Given the description of an element on the screen output the (x, y) to click on. 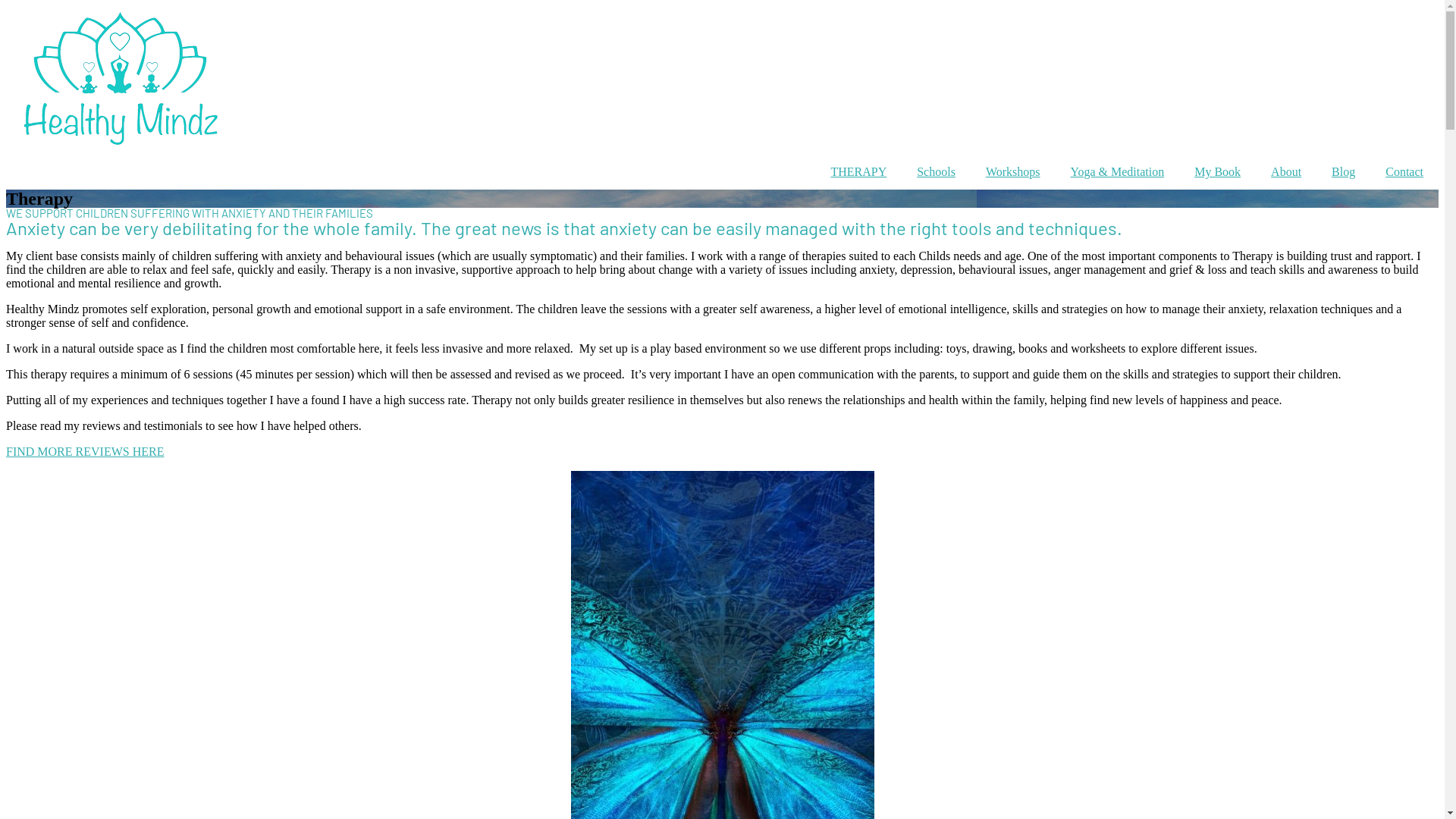
Blog Element type: text (1343, 171)
Schools Element type: text (935, 171)
About Element type: text (1285, 171)
Yoga & Meditation Element type: text (1116, 171)
My Book Element type: text (1217, 171)
FIND MORE REVIEWS HERE Element type: text (84, 451)
Contact Element type: text (1404, 171)
Workshops Element type: text (1012, 171)
THERAPY Element type: text (858, 171)
